Given the description of an element on the screen output the (x, y) to click on. 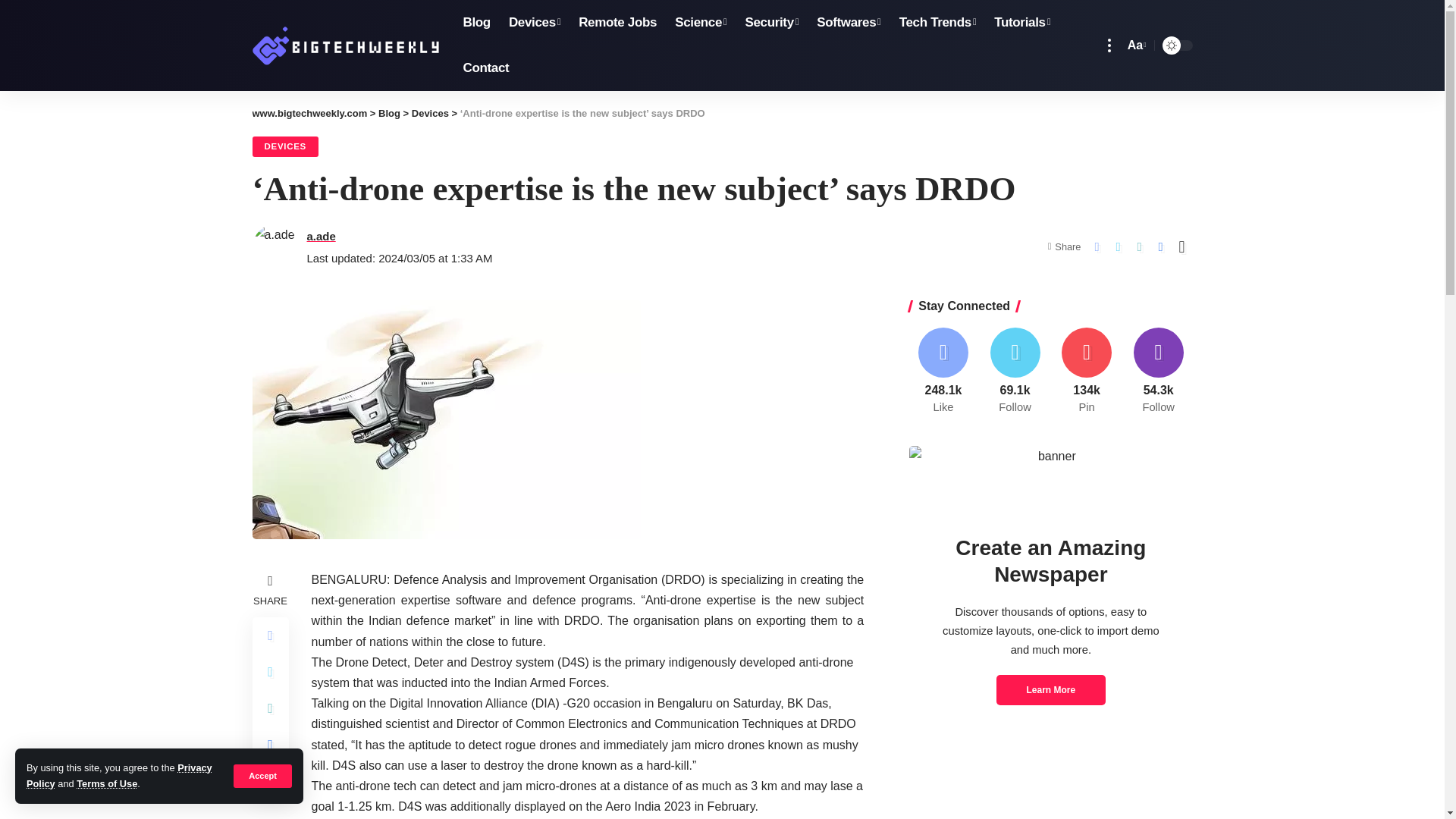
Security (771, 22)
Privacy Policy (119, 775)
Remote Jobs (617, 22)
Devices (534, 22)
Blog (475, 22)
Terms of Use (106, 783)
Accept (262, 775)
Science (700, 22)
www.bigtechweekly.com (344, 44)
